Given the description of an element on the screen output the (x, y) to click on. 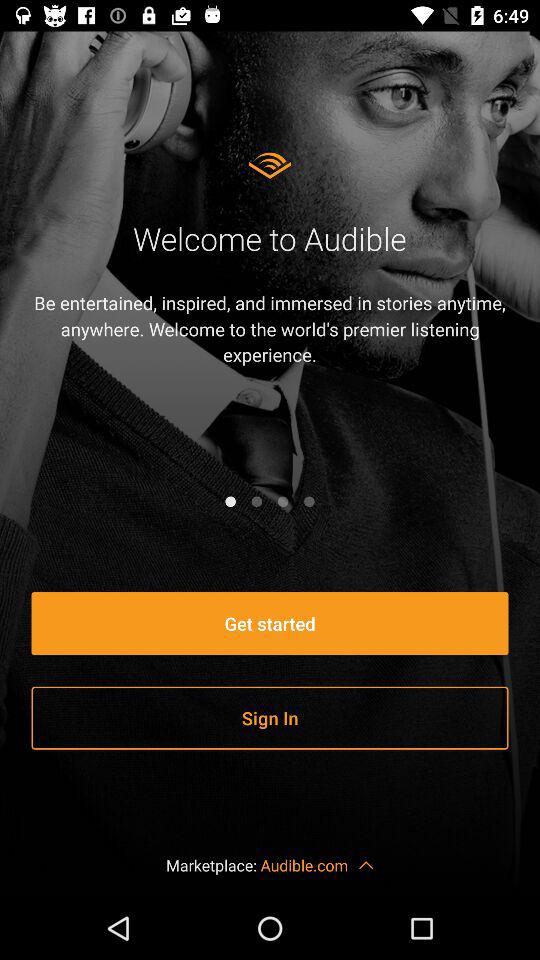
select the icon above the sign in item (269, 623)
